Given the description of an element on the screen output the (x, y) to click on. 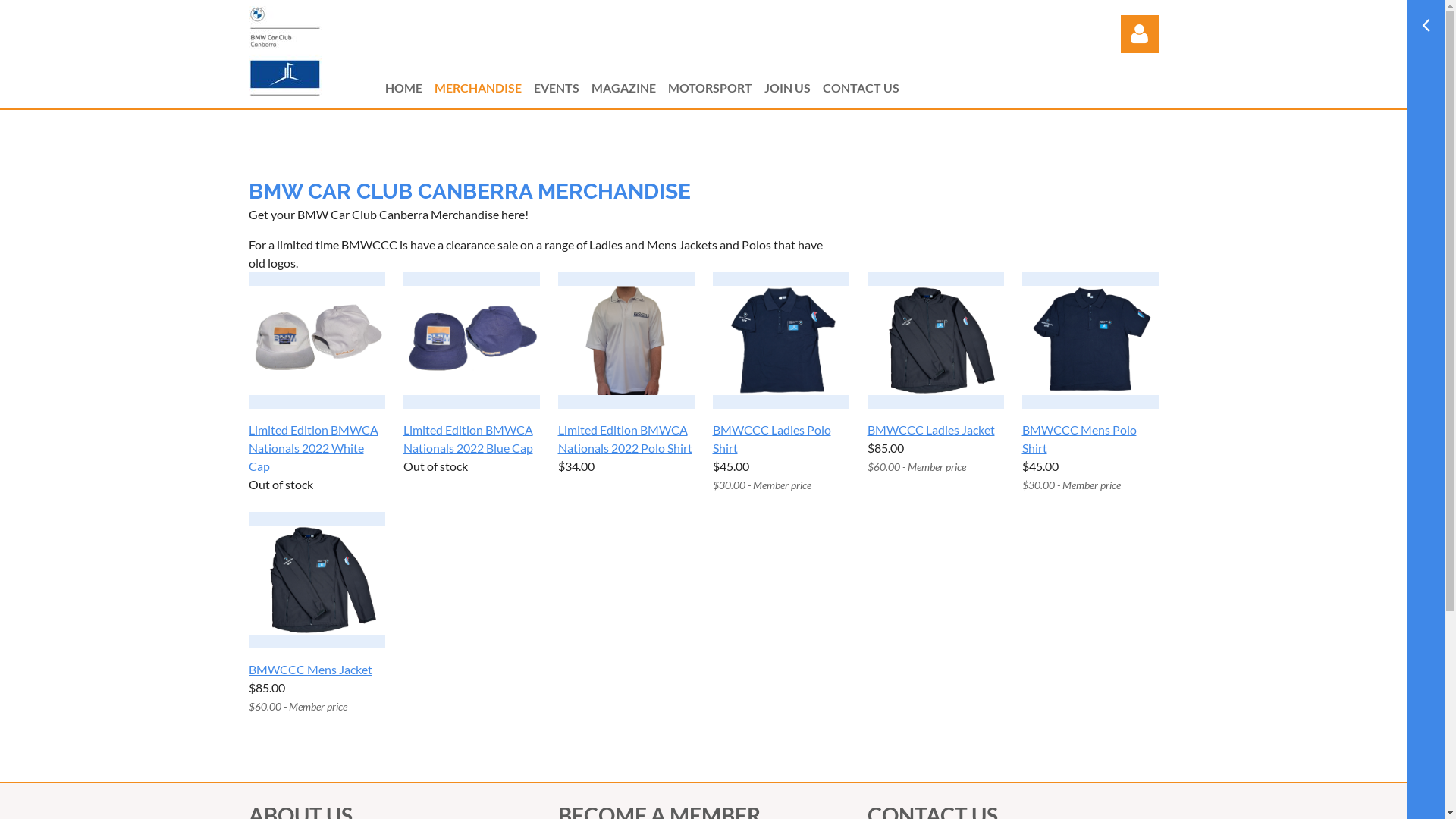
MOTORSPORT Element type: text (715, 87)
Limited Edition BMWCA Nationals 2022 Polo Shirt Element type: text (626, 438)
Limited Edition BMWCA Nationals 2022 Blue Cap Element type: text (471, 438)
BMWCCC Ladies Jacket Element type: text (930, 429)
MERCHANDISE Element type: text (483, 87)
BMWCCC Mens Polo Shirt Element type: text (1090, 438)
MAGAZINE Element type: text (629, 87)
Log in Element type: text (1139, 34)
BMWCCC Ladies Polo Shirt Element type: text (780, 438)
HOME Element type: text (409, 87)
EVENTS Element type: text (562, 87)
BMWCCC Mens Jacket Element type: text (310, 669)
JOIN US Element type: text (793, 87)
Limited Edition BMWCA Nationals 2022 White Cap Element type: text (316, 447)
CONTACT US Element type: text (866, 87)
